Given the description of an element on the screen output the (x, y) to click on. 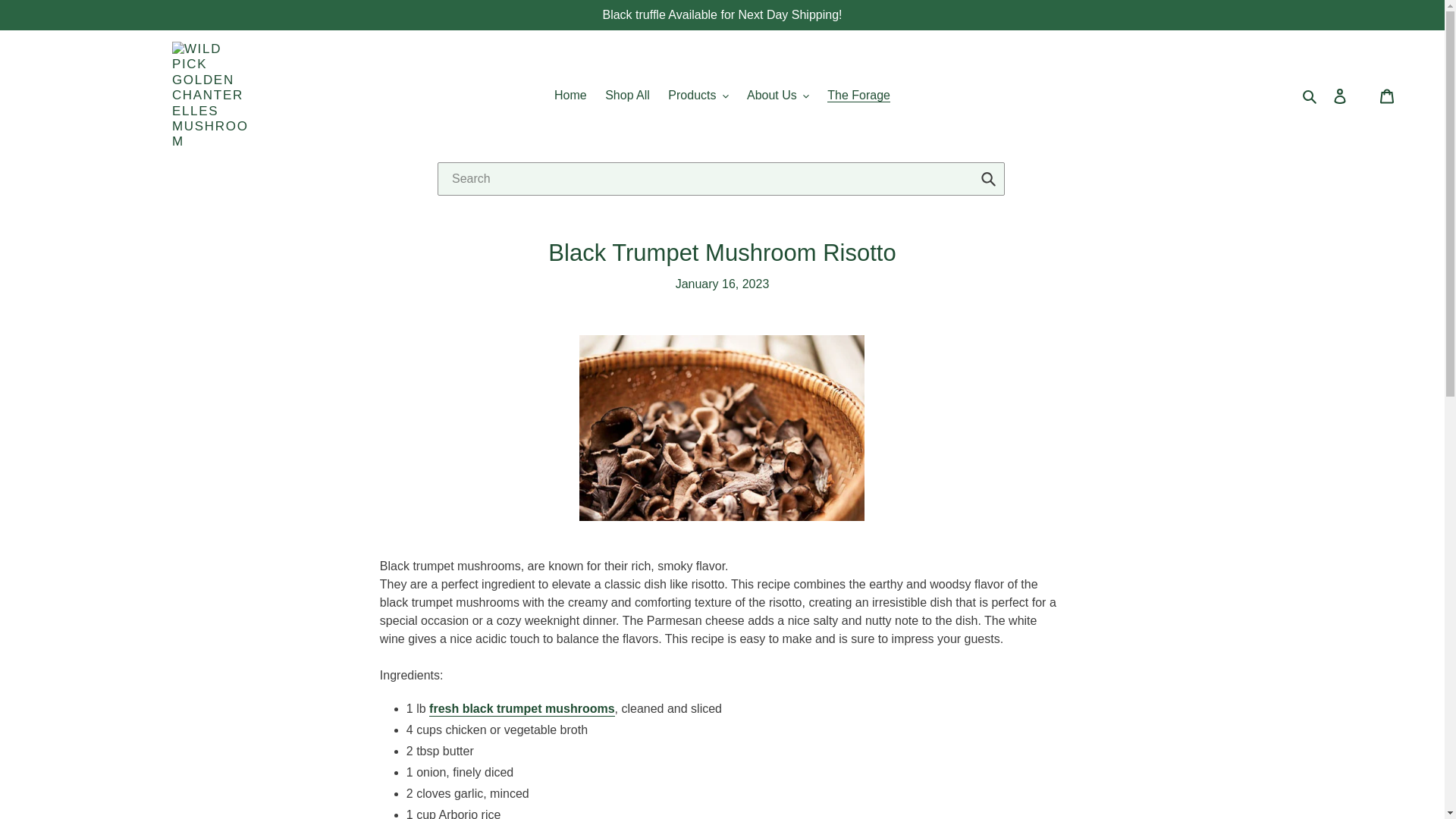
Shop All (627, 95)
Black truffle Available for Next Day Shipping! (721, 14)
About Us (777, 95)
Log in (1339, 95)
Products (698, 95)
Cart (1387, 95)
The Forage (858, 95)
buy fresh black trumpet mushrooms (521, 708)
Home (570, 95)
Search (1310, 95)
